Given the description of an element on the screen output the (x, y) to click on. 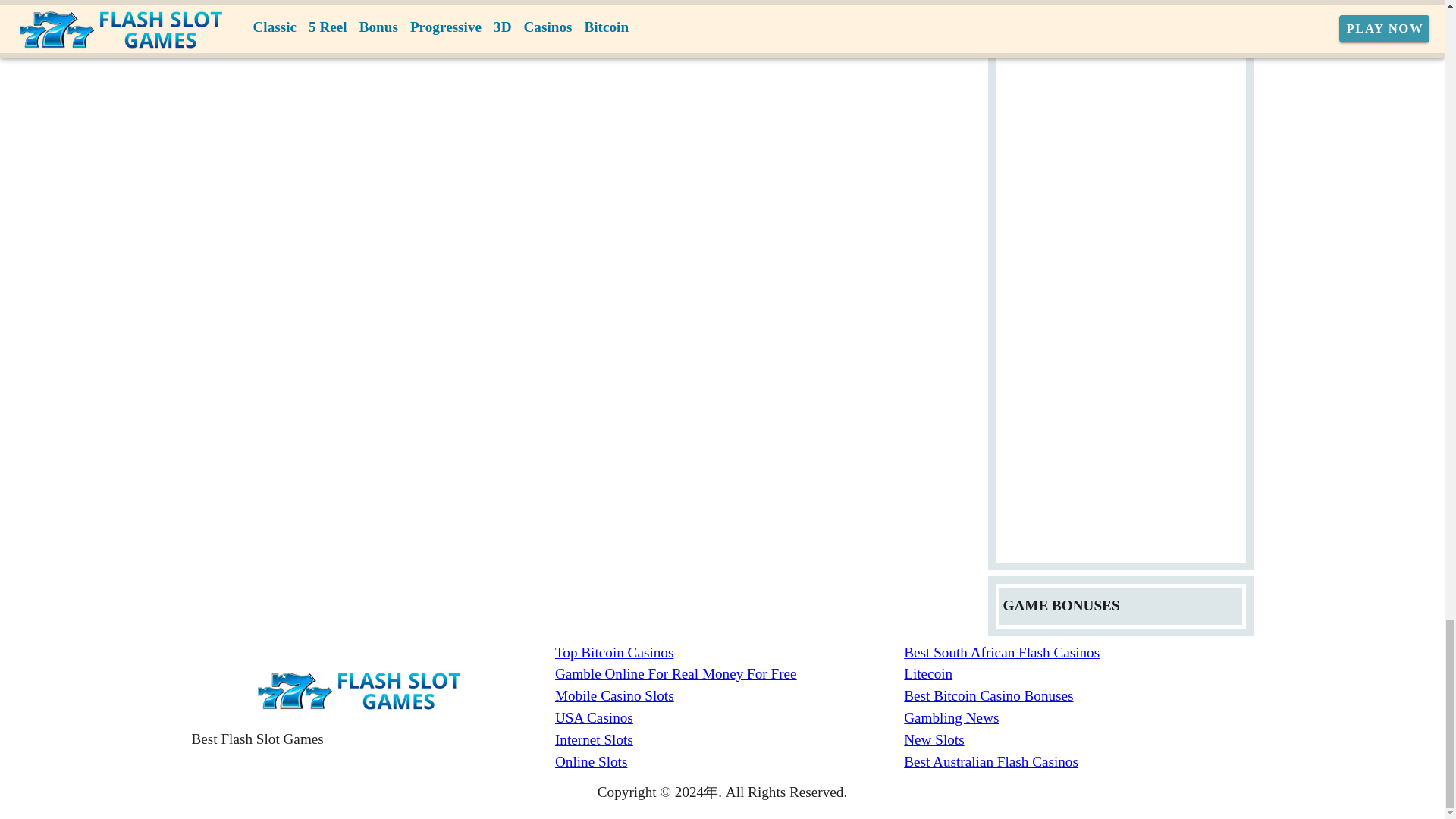
Top Bitcoin Casinos (729, 653)
Litecoin (1078, 674)
Best South African Flash Casinos (1078, 653)
Gamble Online For Real Money For Free (729, 674)
Mobile Casino Slots (729, 696)
